Given the description of an element on the screen output the (x, y) to click on. 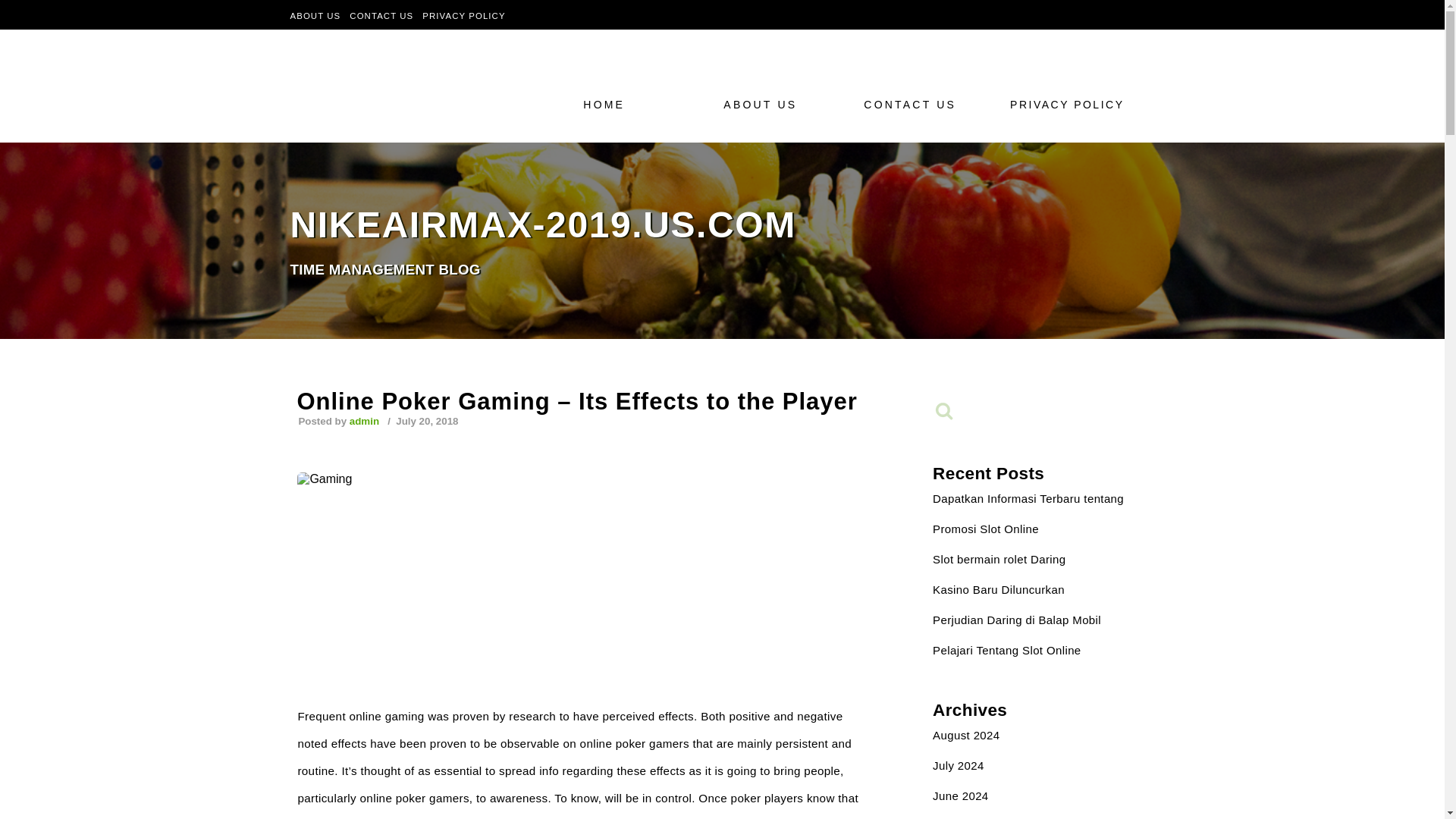
June 2024 (960, 795)
ABOUT US (314, 15)
Slot bermain rolet Daring (999, 558)
CONTACT US (381, 15)
Perjudian Daring di Balap Mobil (1016, 619)
PRIVACY POLICY (463, 15)
July 20, 2018 (425, 420)
Dapatkan Informasi Terbaru tentang Promosi Slot Online (1028, 513)
Pelajari Tentang Slot Online (1006, 649)
CONTACT US (913, 104)
